Given the description of an element on the screen output the (x, y) to click on. 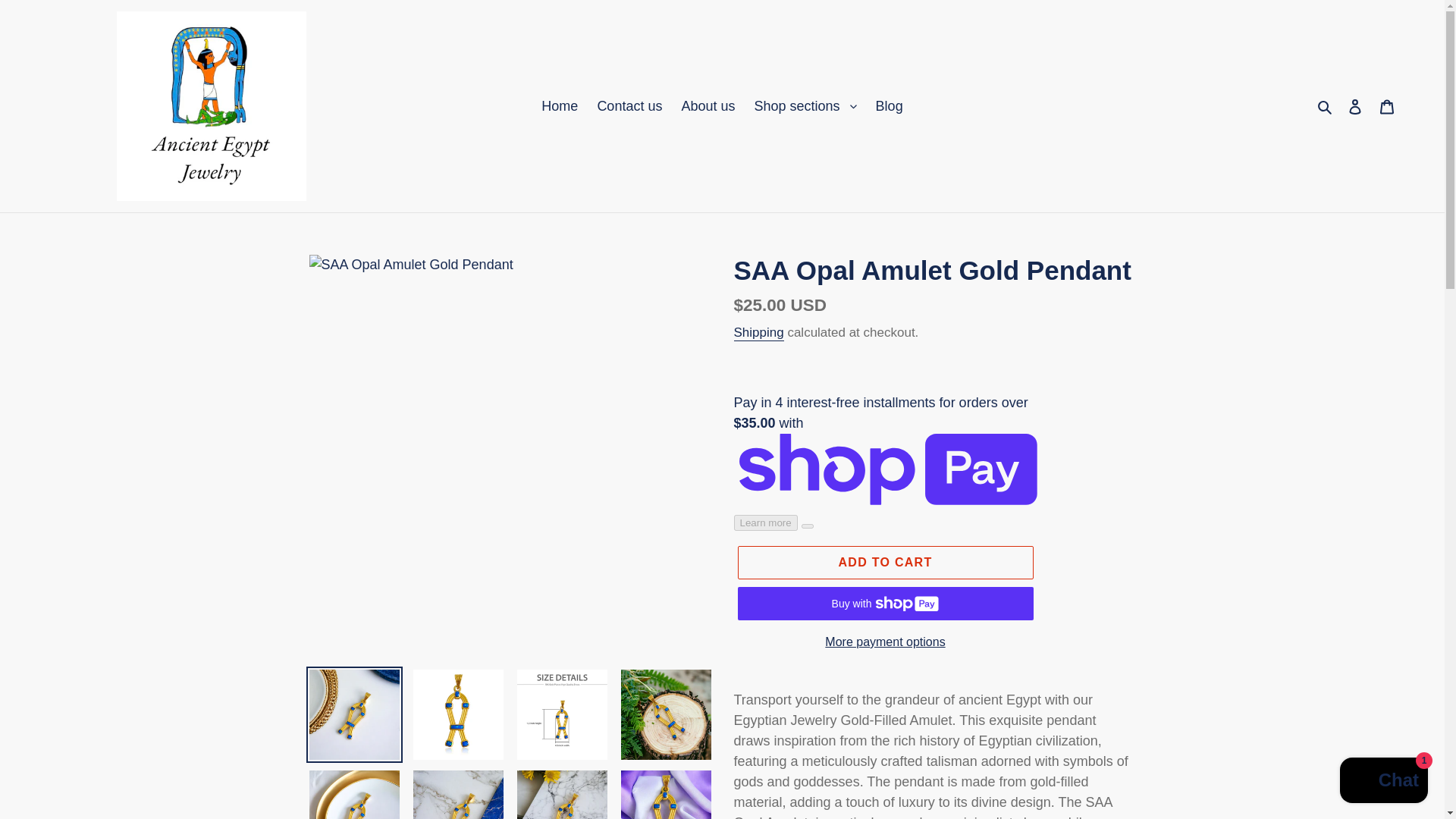
Contact us (629, 106)
Search (1326, 106)
About us (707, 106)
Home (559, 106)
Shopify online store chat (1383, 781)
Cart (1387, 105)
Log in (1355, 105)
Shop sections (805, 106)
Blog (889, 106)
